Given the description of an element on the screen output the (x, y) to click on. 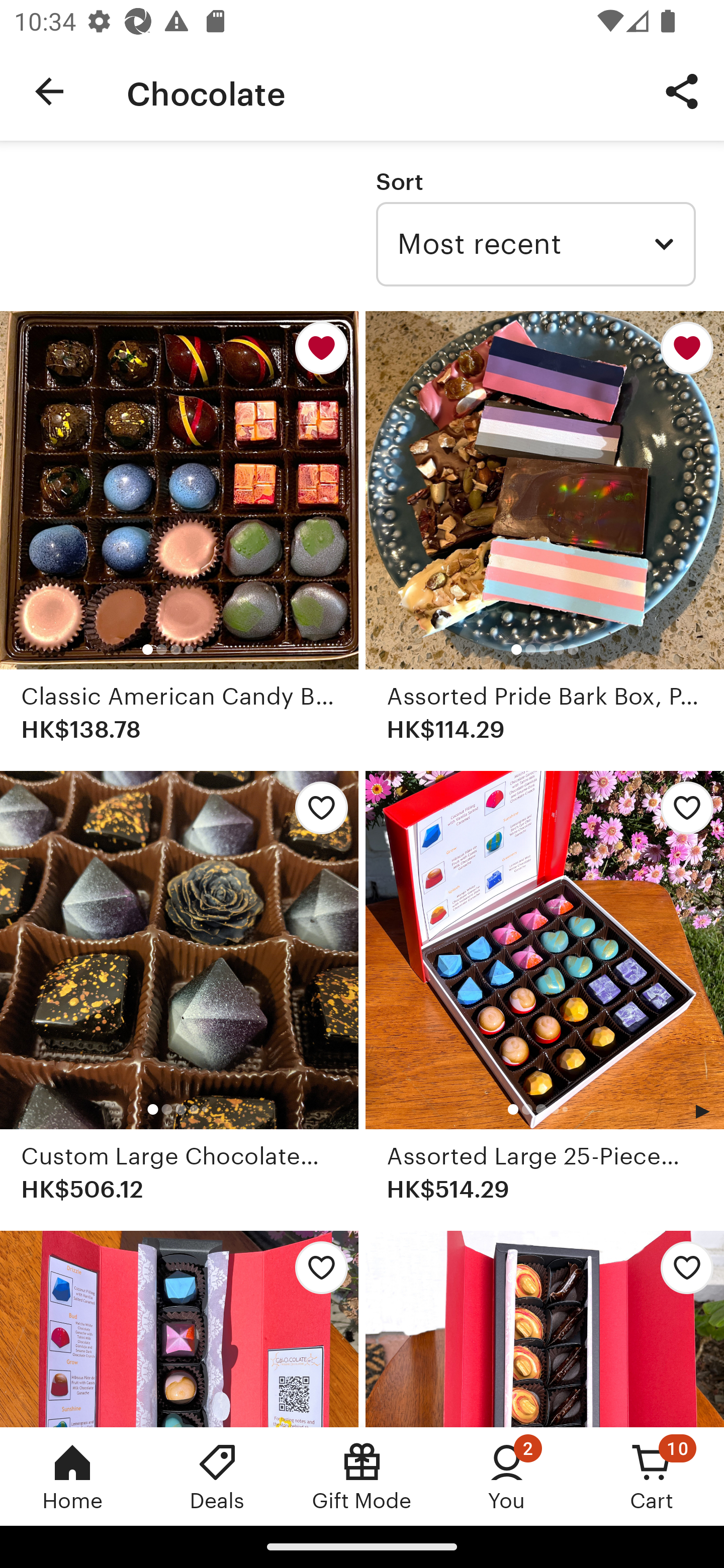
Navigate up (49, 91)
Share Button (681, 90)
Sort (399, 181)
Most recent (535, 244)
Add Custom Large Chocolate Box to favorites (315, 813)
Add Custom Medium Chocolate Box to favorites (681, 1272)
Deals (216, 1475)
Gift Mode (361, 1475)
You, 2 new notifications You (506, 1475)
Cart, 10 new notifications Cart (651, 1475)
